Given the description of an element on the screen output the (x, y) to click on. 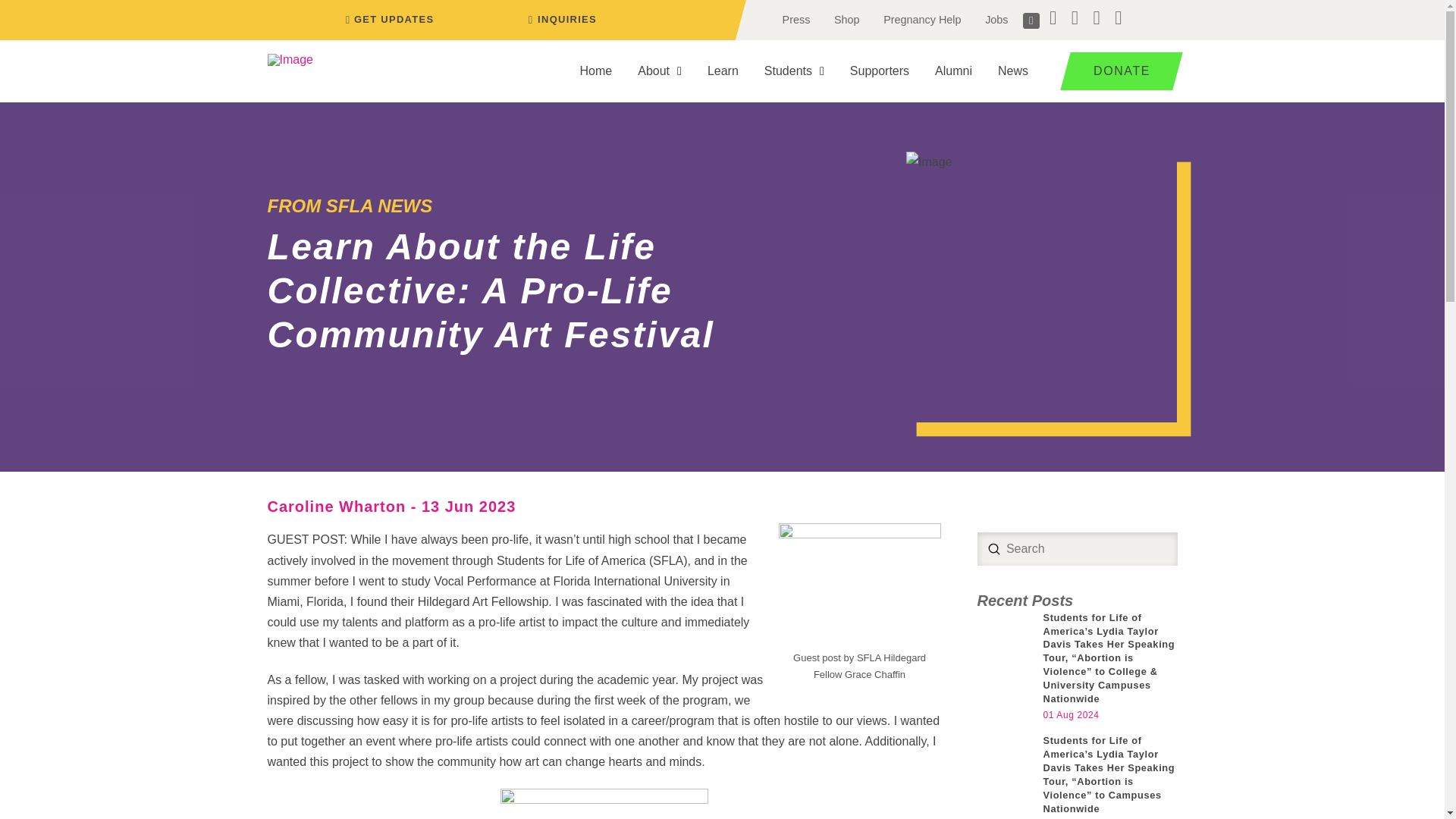
GET UPDATES (386, 20)
Home (596, 71)
Jobs (996, 20)
Supporters (879, 71)
Shop (846, 20)
News (1013, 71)
Pregnancy Help (921, 20)
Alumni (953, 71)
Students (794, 71)
DONATE (1115, 71)
About (659, 71)
Press (796, 20)
Learn (722, 71)
